Given the description of an element on the screen output the (x, y) to click on. 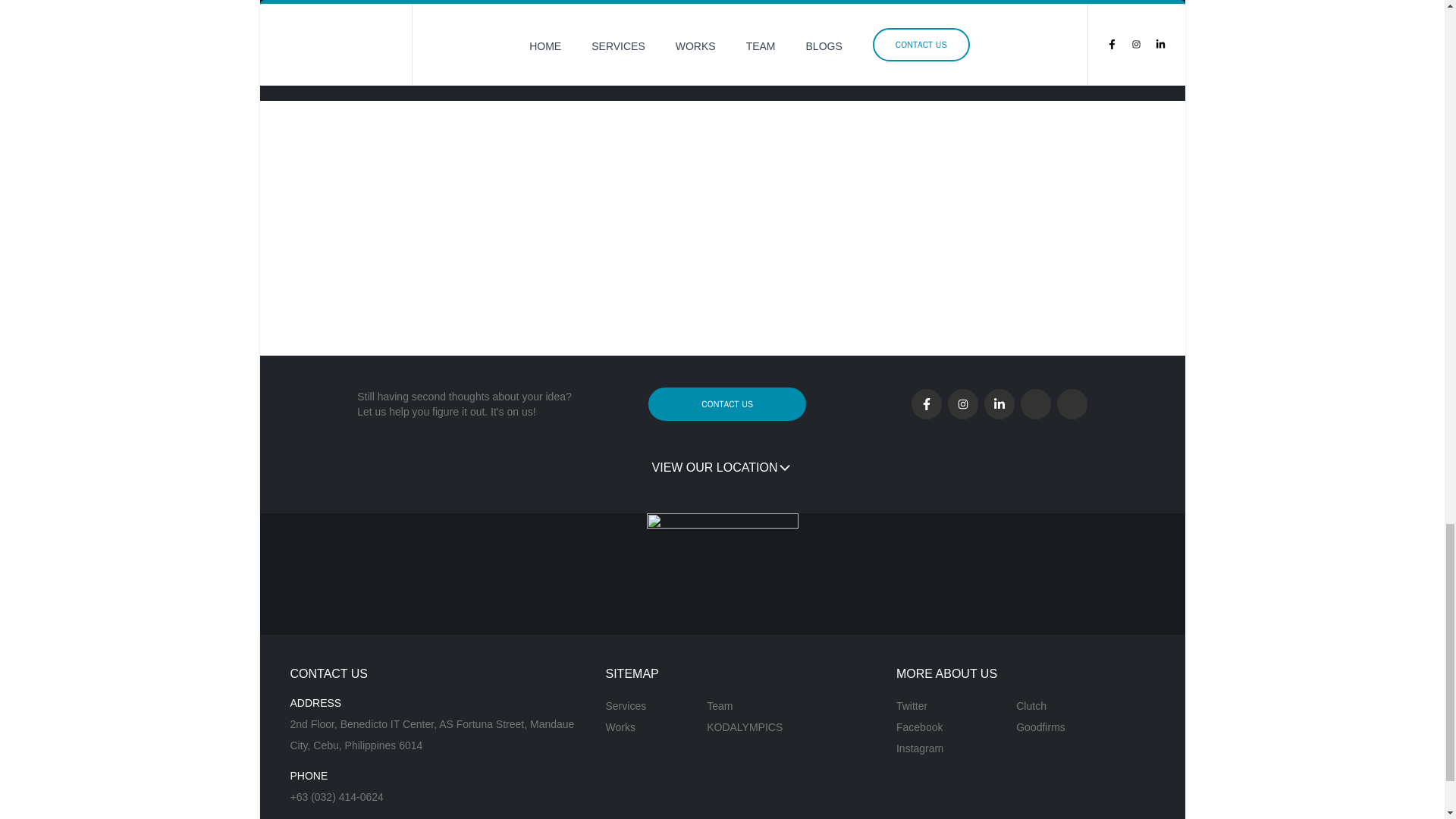
Goodfirms (1040, 726)
CONTACT US (726, 403)
Works (625, 726)
KODALYMPICS (744, 726)
VIEW OUR WORK (340, 54)
Instagram (919, 748)
Team (744, 705)
Clutch (1040, 705)
Facebook (919, 726)
VIEW OUR WORK (351, 54)
